Given the description of an element on the screen output the (x, y) to click on. 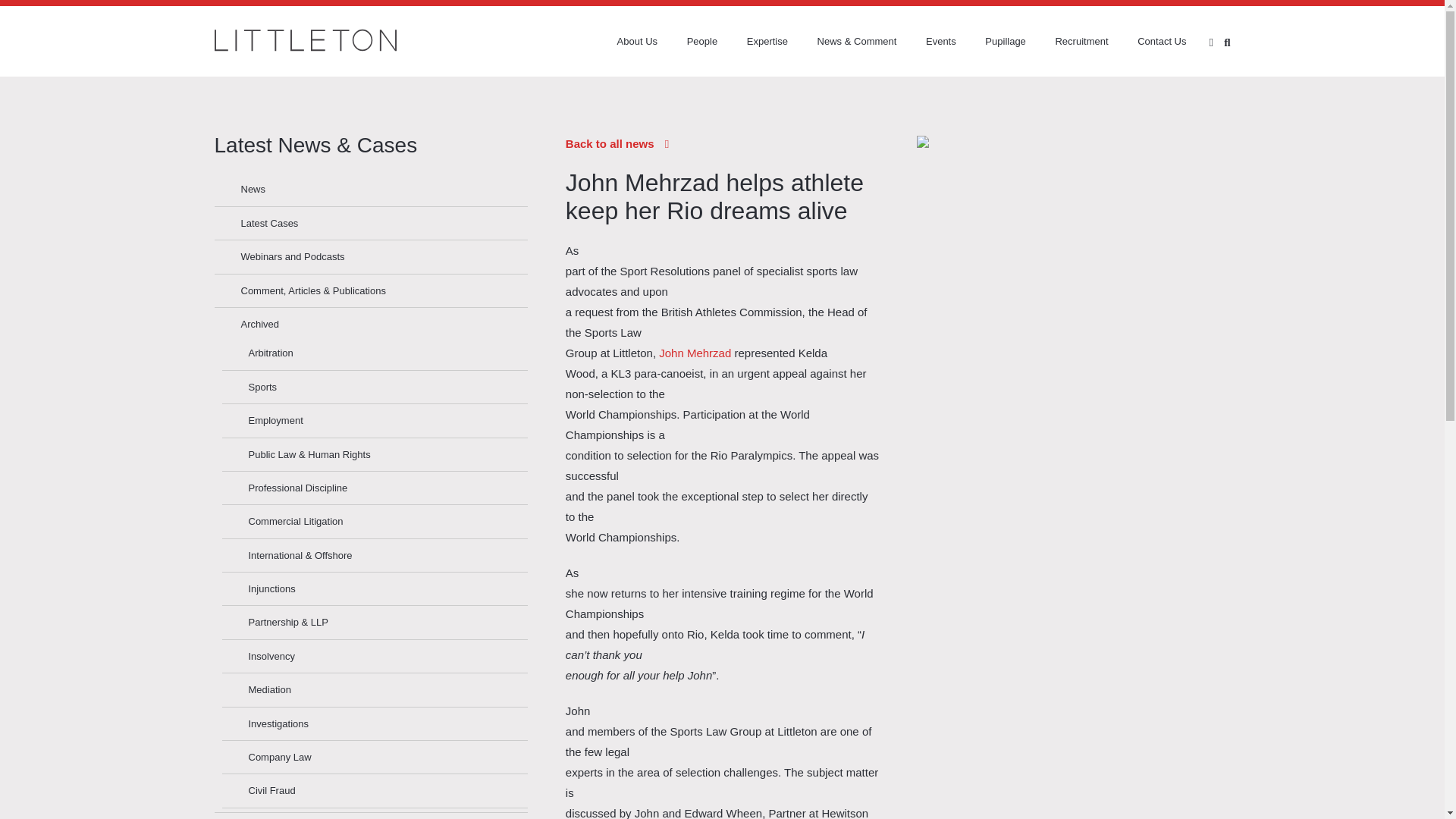
About Us (624, 41)
People (689, 41)
Expertise (753, 41)
